Given the description of an element on the screen output the (x, y) to click on. 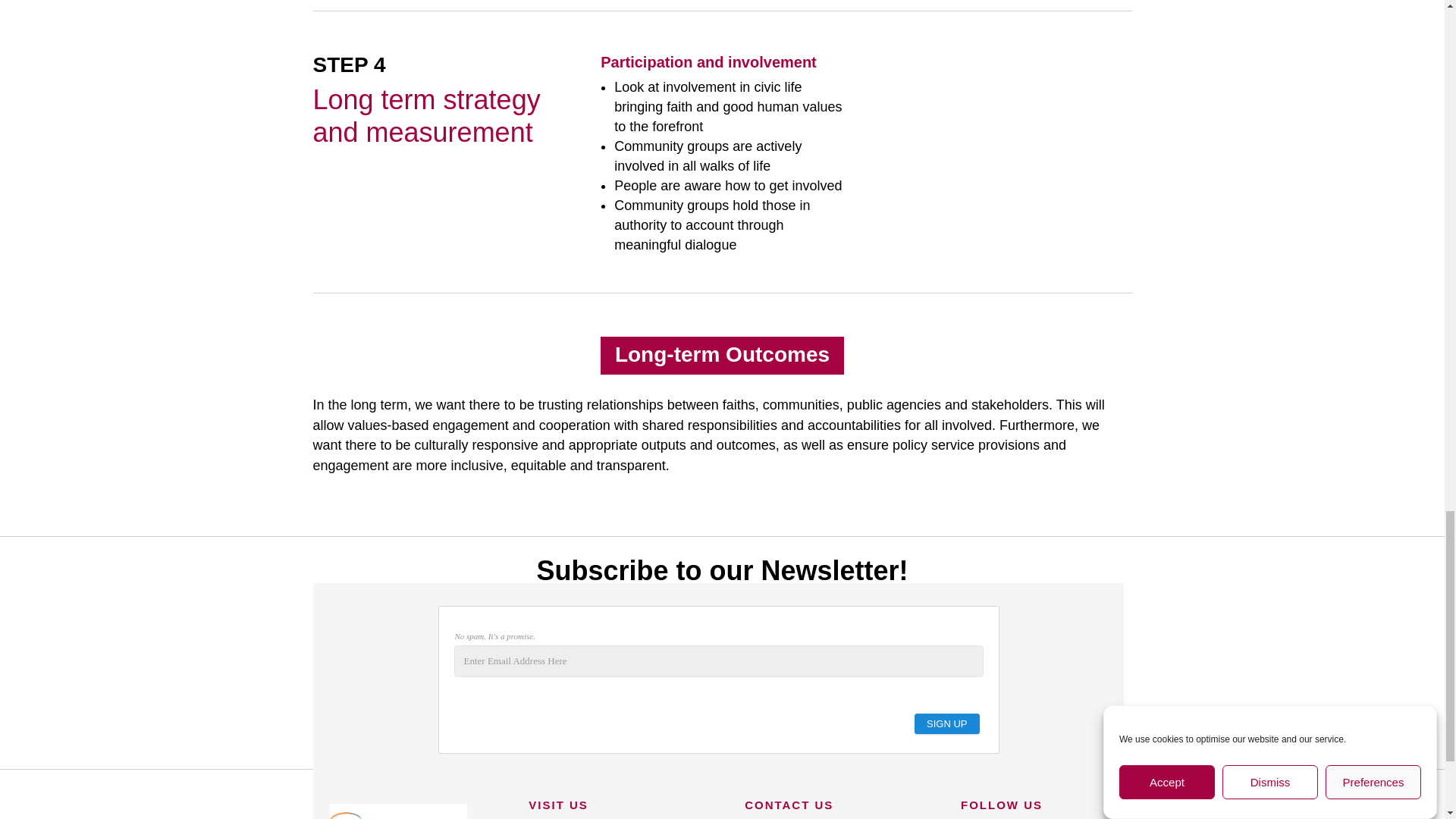
Untitled-1 (398, 807)
